Given the description of an element on the screen output the (x, y) to click on. 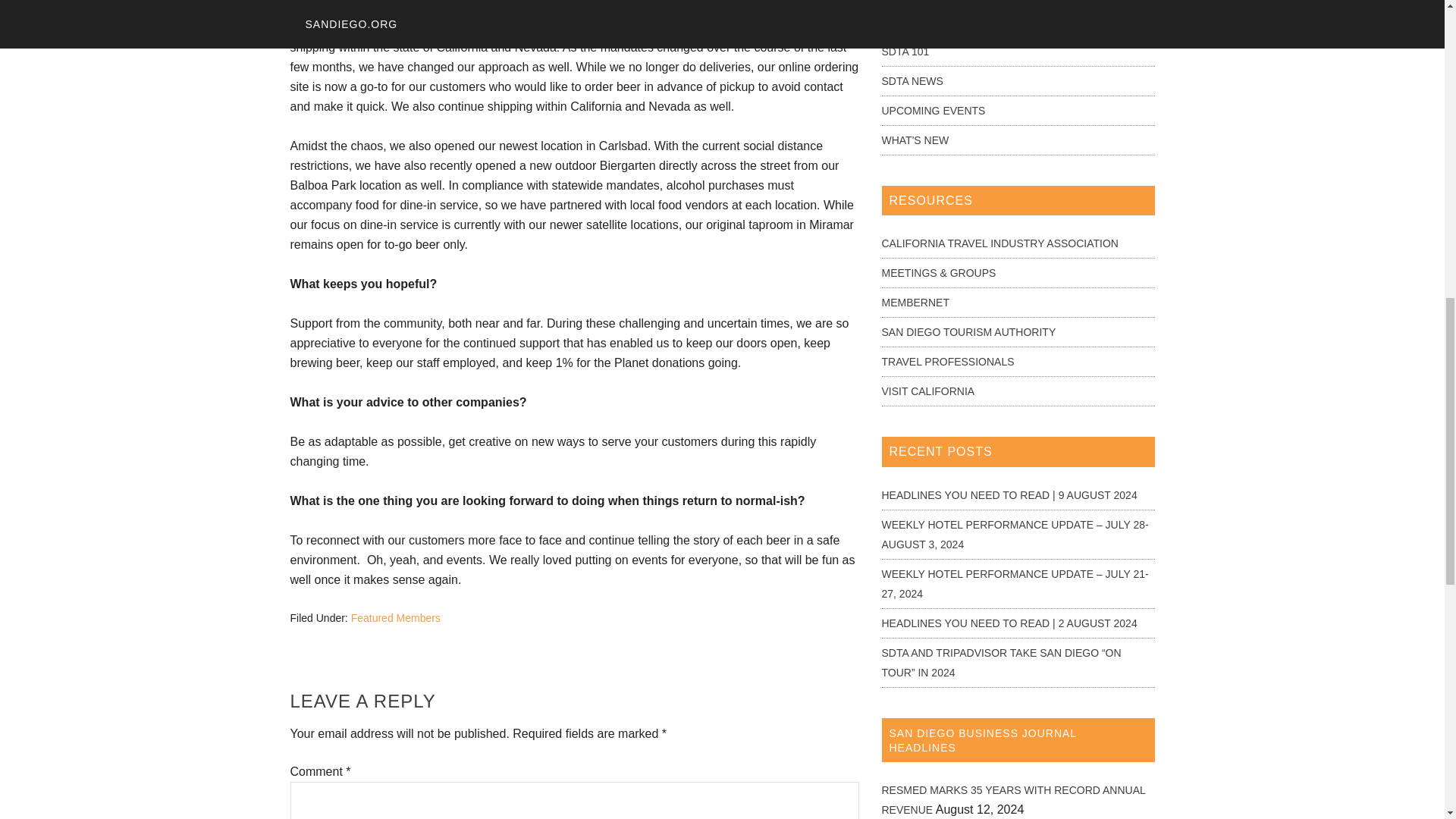
CALIFORNIA TRAVEL INDUSTRY ASSOCIATION (999, 243)
WHAT'S NEW (914, 140)
SDTA 101 (904, 51)
SAN DIEGO TOURISM AUTHORITY (967, 331)
MEMBERNET (914, 302)
Featured Members (395, 617)
SDTA NEWS (911, 80)
Official tourism website of the San Diego Tourism Authority (967, 331)
TRAVEL PROFESSIONALS (946, 361)
Login to MemberNet (914, 302)
